Given the description of an element on the screen output the (x, y) to click on. 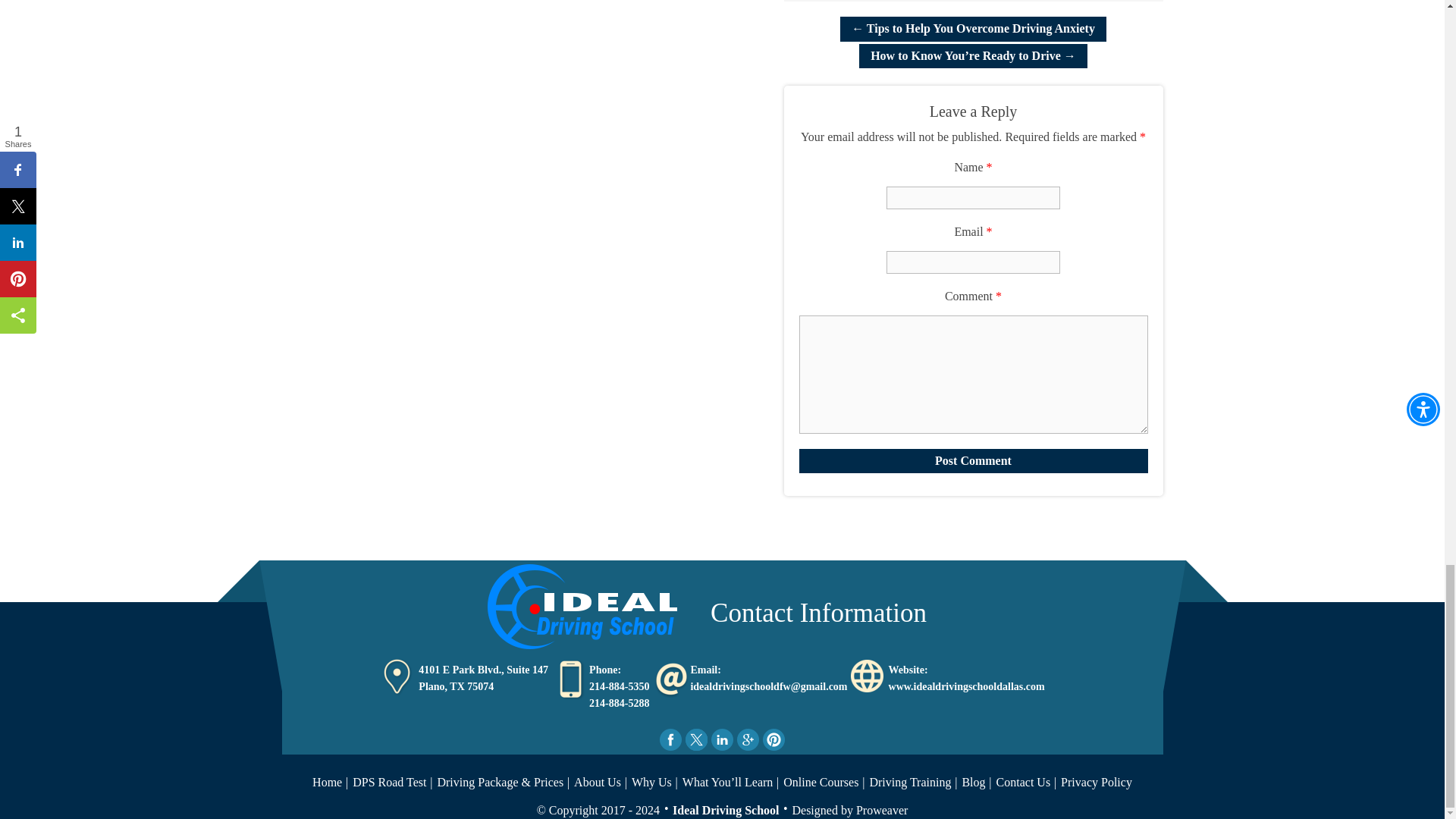
Post Comment (973, 460)
